Given the description of an element on the screen output the (x, y) to click on. 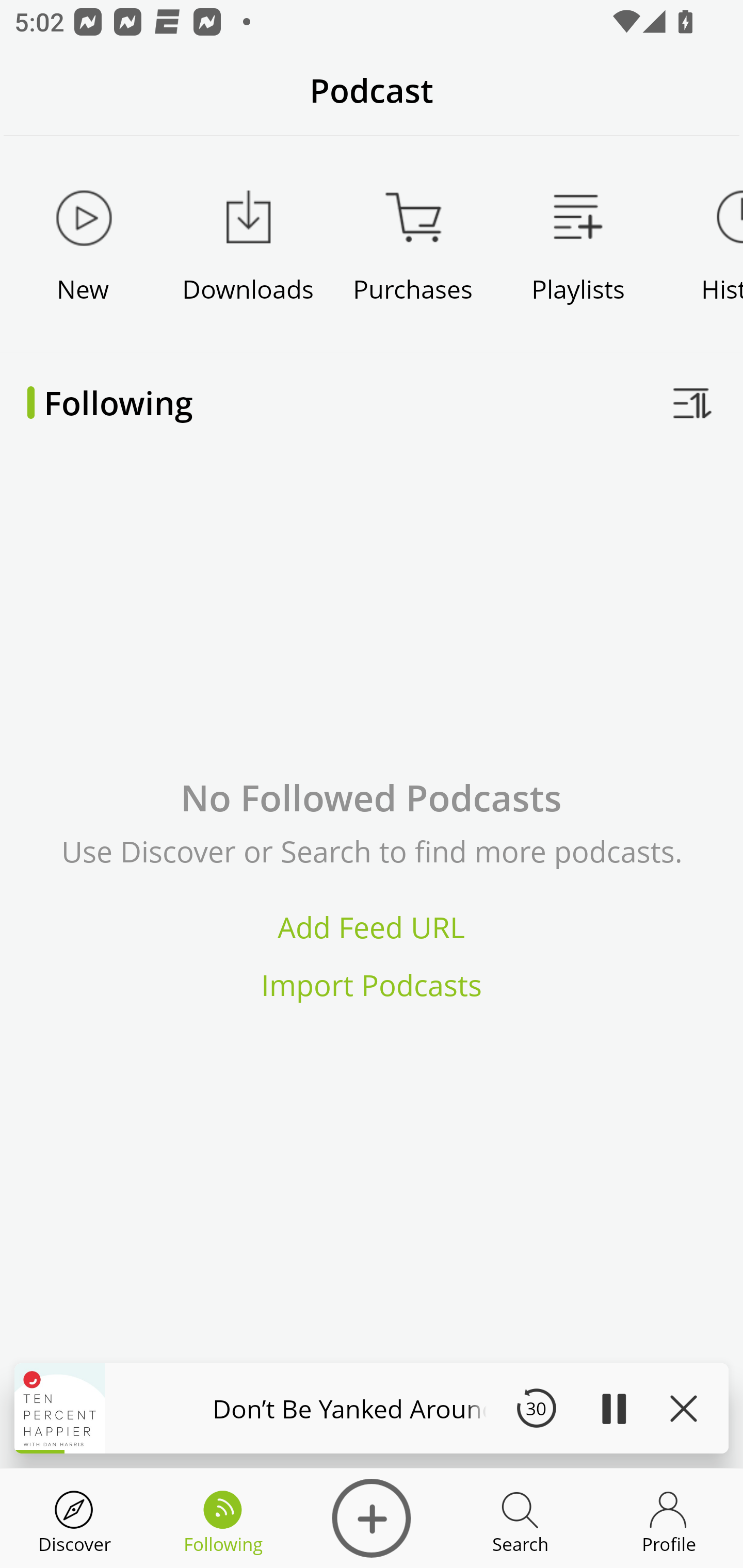
Add Feed URL (371, 927)
Import Podcasts (371, 984)
Play (613, 1407)
30 Seek Backward (536, 1407)
Discover (74, 1518)
Discover (371, 1518)
Discover Search (519, 1518)
Discover Profile (668, 1518)
